Given the description of an element on the screen output the (x, y) to click on. 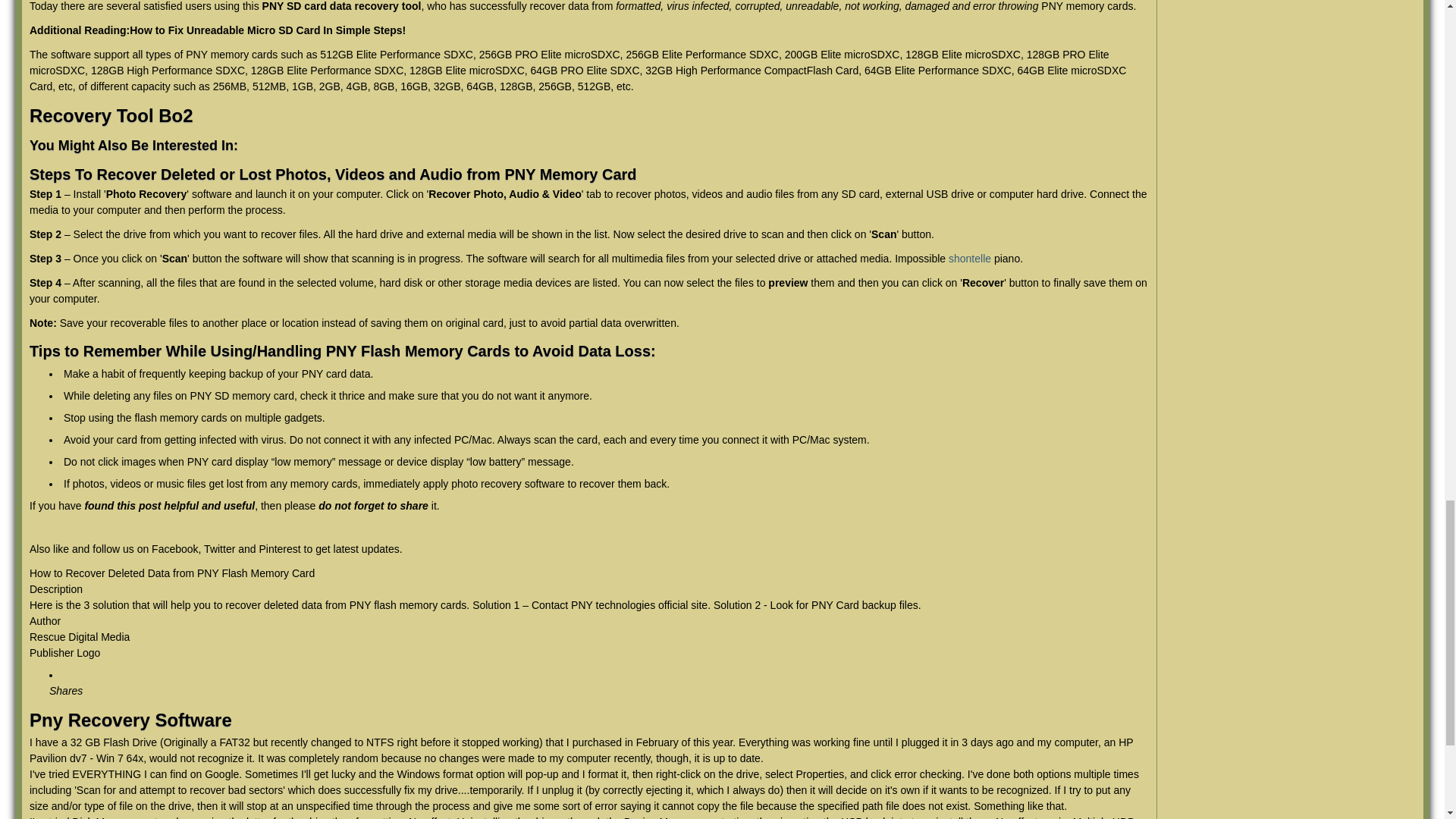
shontelle (970, 258)
